Given the description of an element on the screen output the (x, y) to click on. 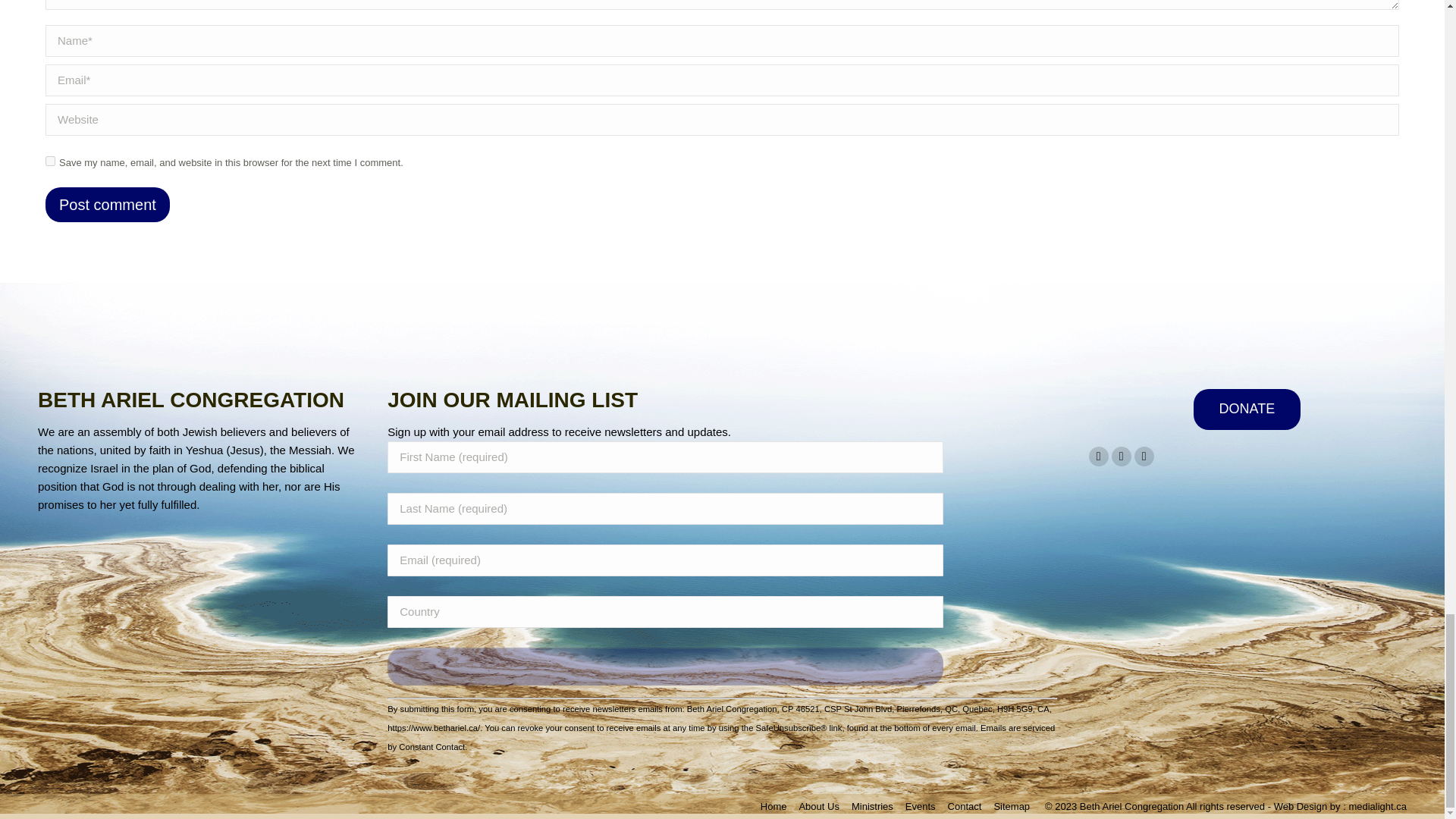
Instagram page opens in new window (1144, 456)
Facebook page opens in new window (1098, 456)
yes (50, 161)
YouTube page opens in new window (1121, 456)
Subscribe (665, 666)
